Given the description of an element on the screen output the (x, y) to click on. 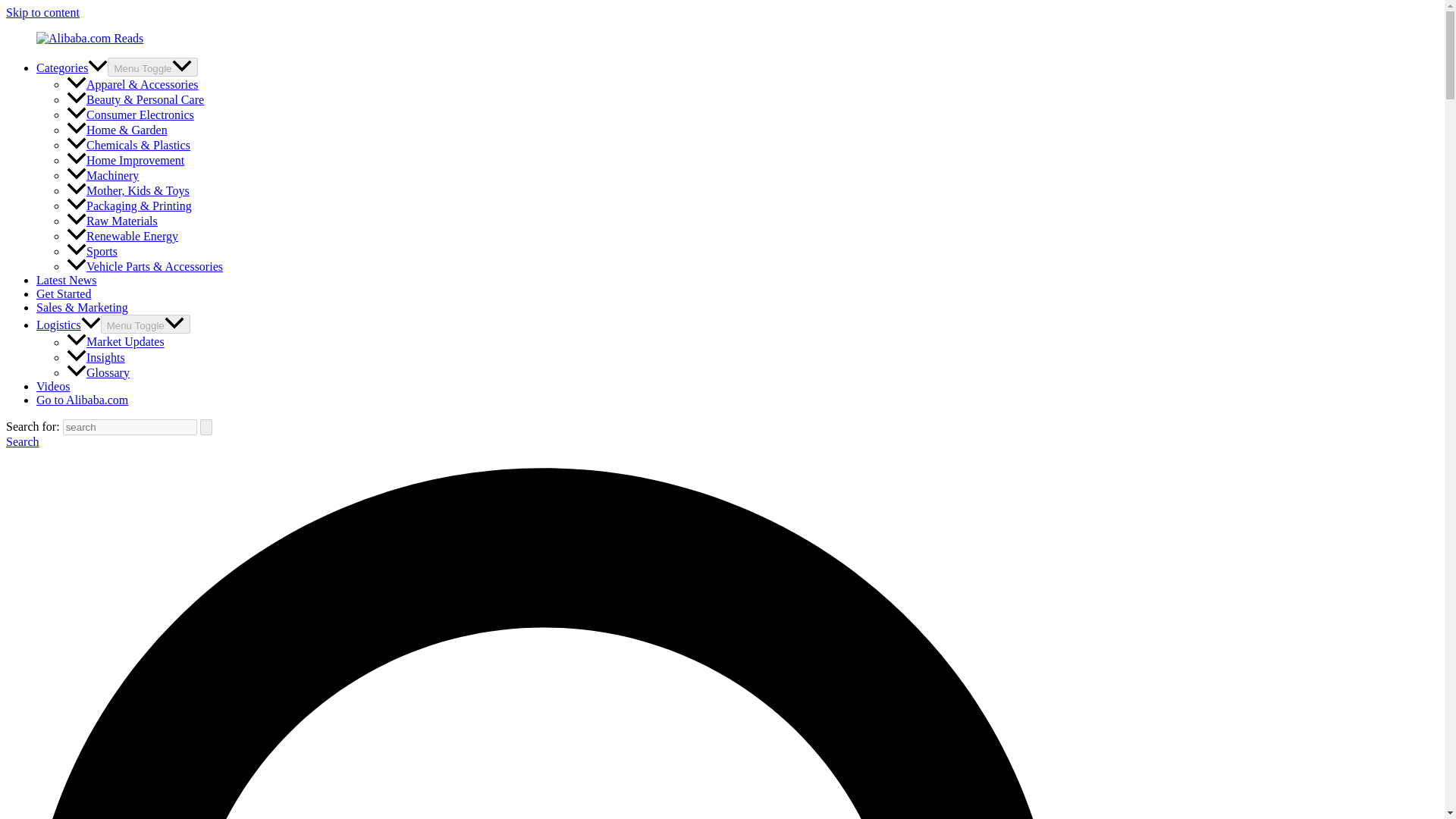
Logistics (68, 324)
Menu Toggle (145, 323)
Insights (95, 357)
Home Improvement (125, 160)
Machinery (102, 174)
Consumer Electronics (129, 114)
Sports (91, 250)
Latest News (66, 279)
Go to Alibaba.com (82, 399)
Menu Toggle (151, 66)
Renewable Energy (121, 236)
Skip to content (42, 11)
Glossary (97, 372)
Raw Materials (111, 220)
Categories (71, 67)
